Given the description of an element on the screen output the (x, y) to click on. 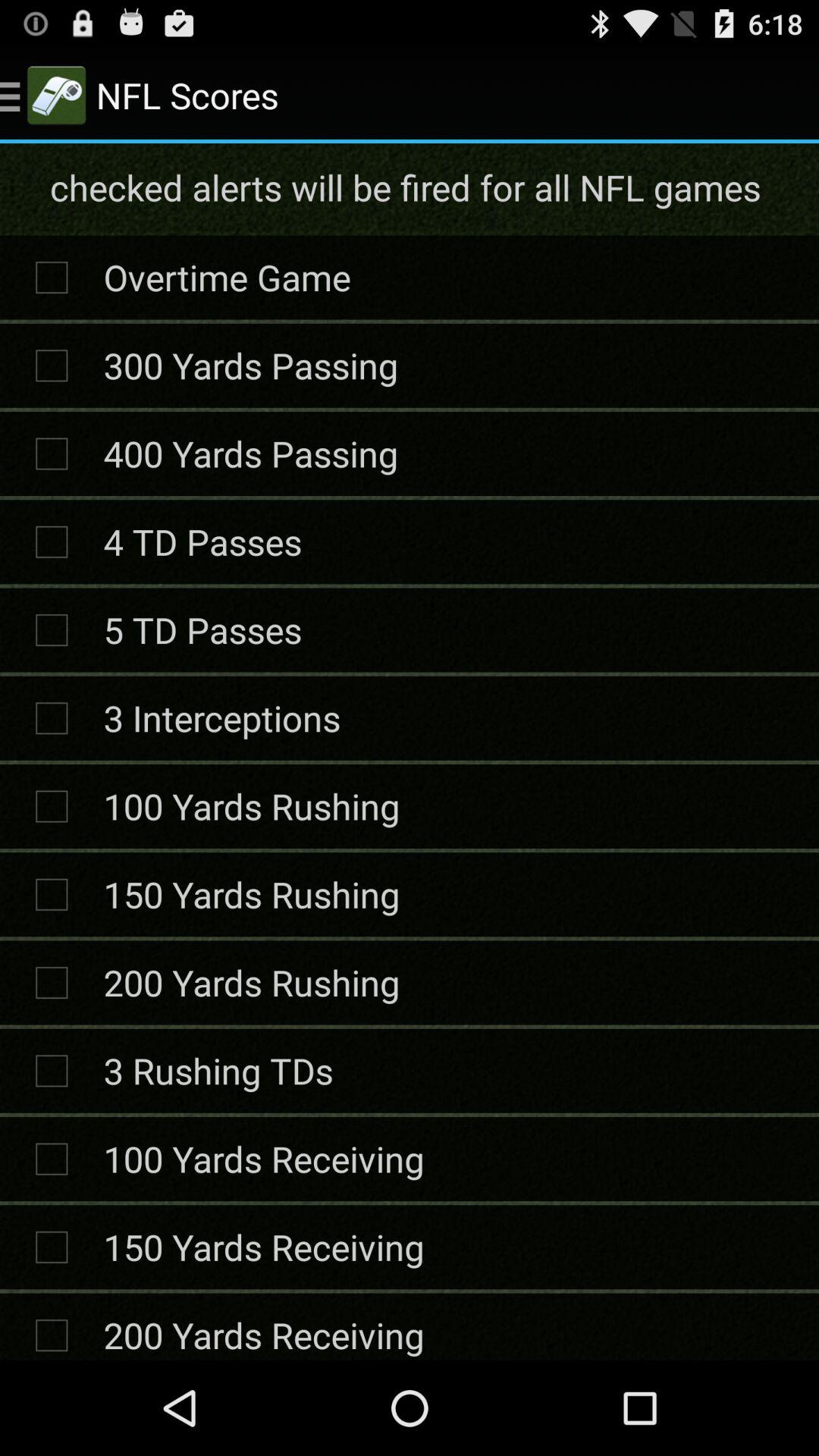
tap the icon above the 300 yards passing item (226, 277)
